Given the description of an element on the screen output the (x, y) to click on. 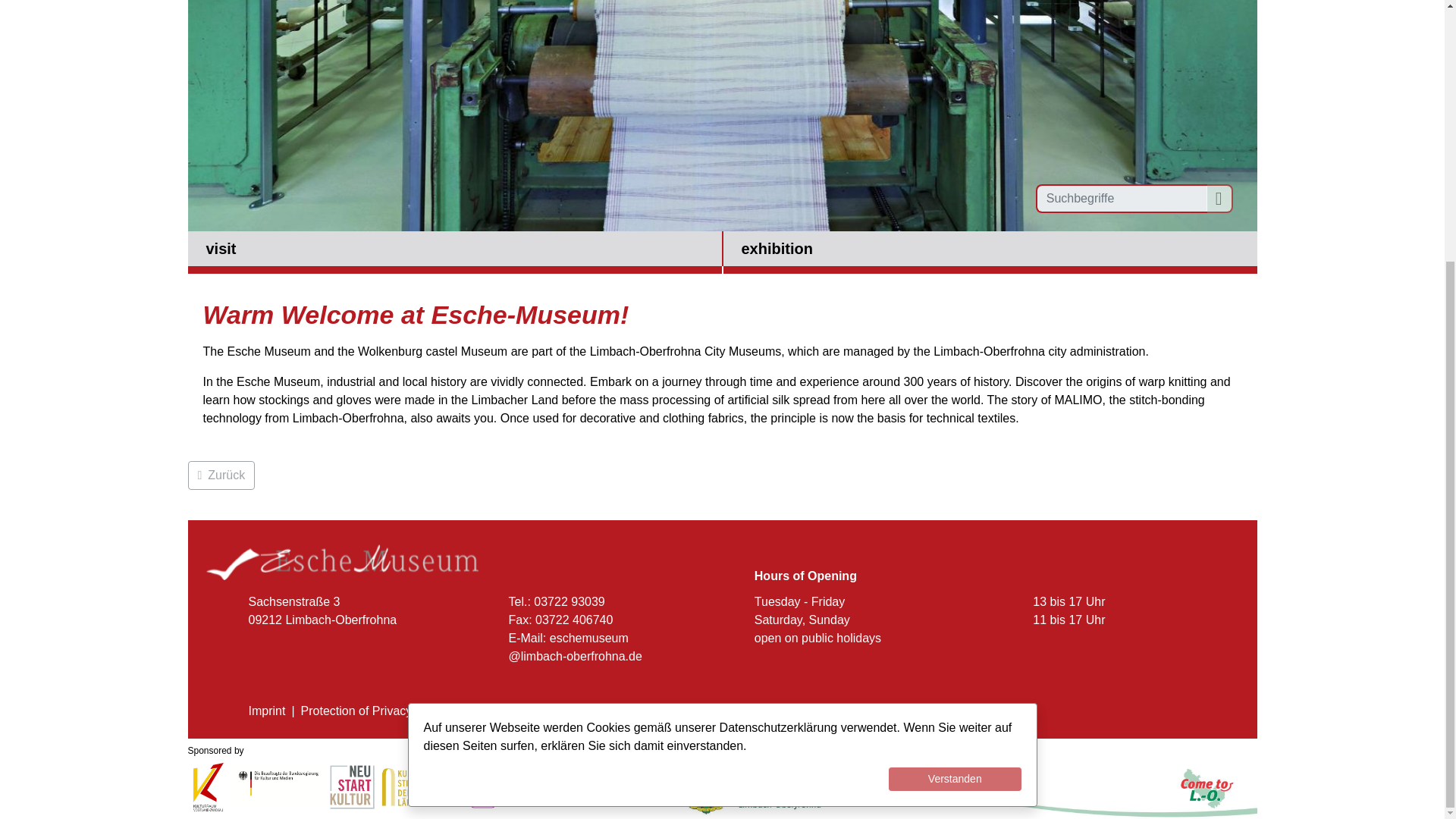
Protection of Privacy (356, 710)
visit (454, 251)
exhibition (990, 251)
Imprint (266, 710)
Verstanden (955, 403)
eschemuseum (589, 637)
